Given the description of an element on the screen output the (x, y) to click on. 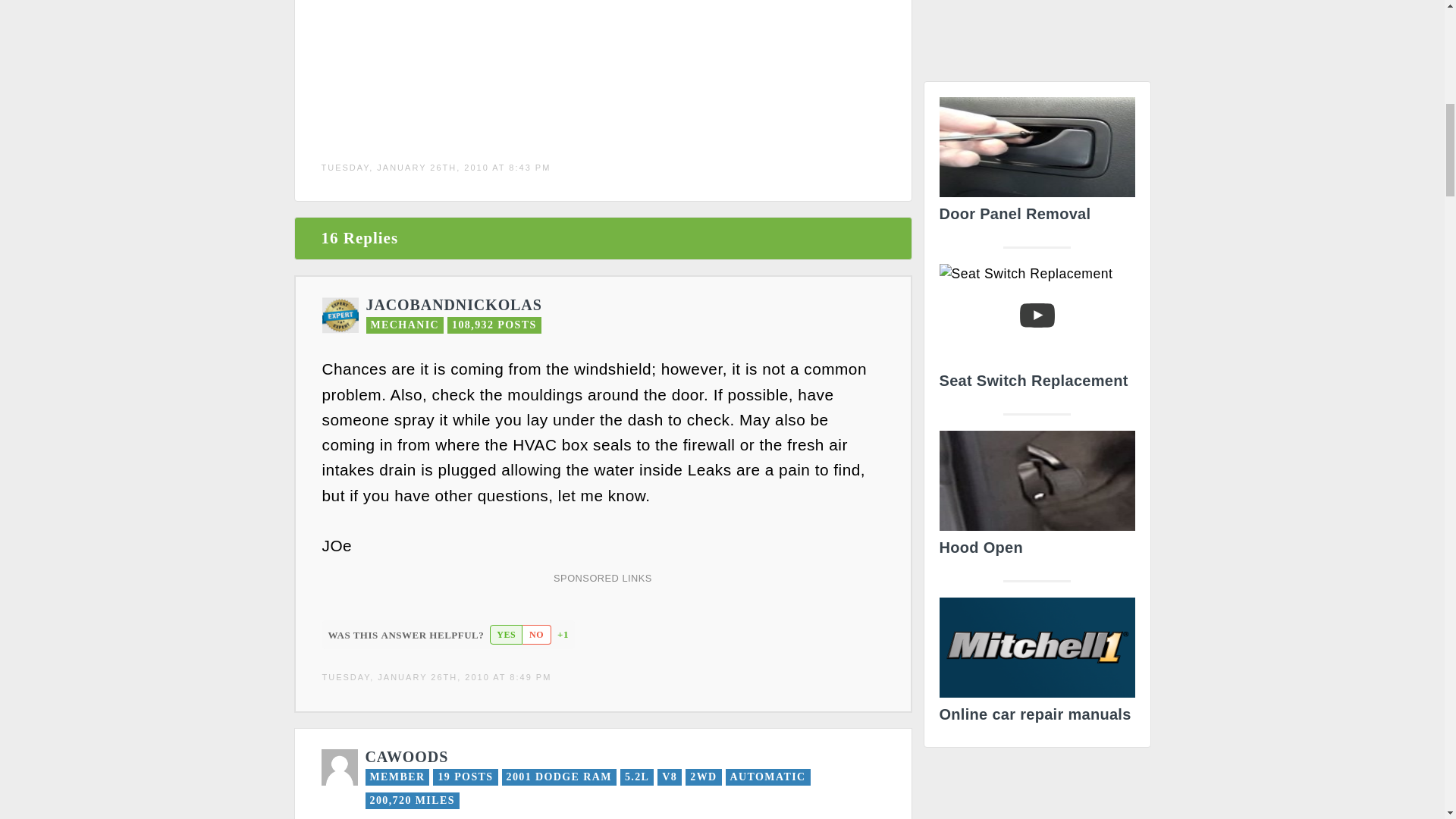
Hood Open (1036, 497)
Car Manual (1036, 664)
Door Panel Removal (1036, 163)
Advertisement (600, 65)
Advertisement (1037, 34)
